Given the description of an element on the screen output the (x, y) to click on. 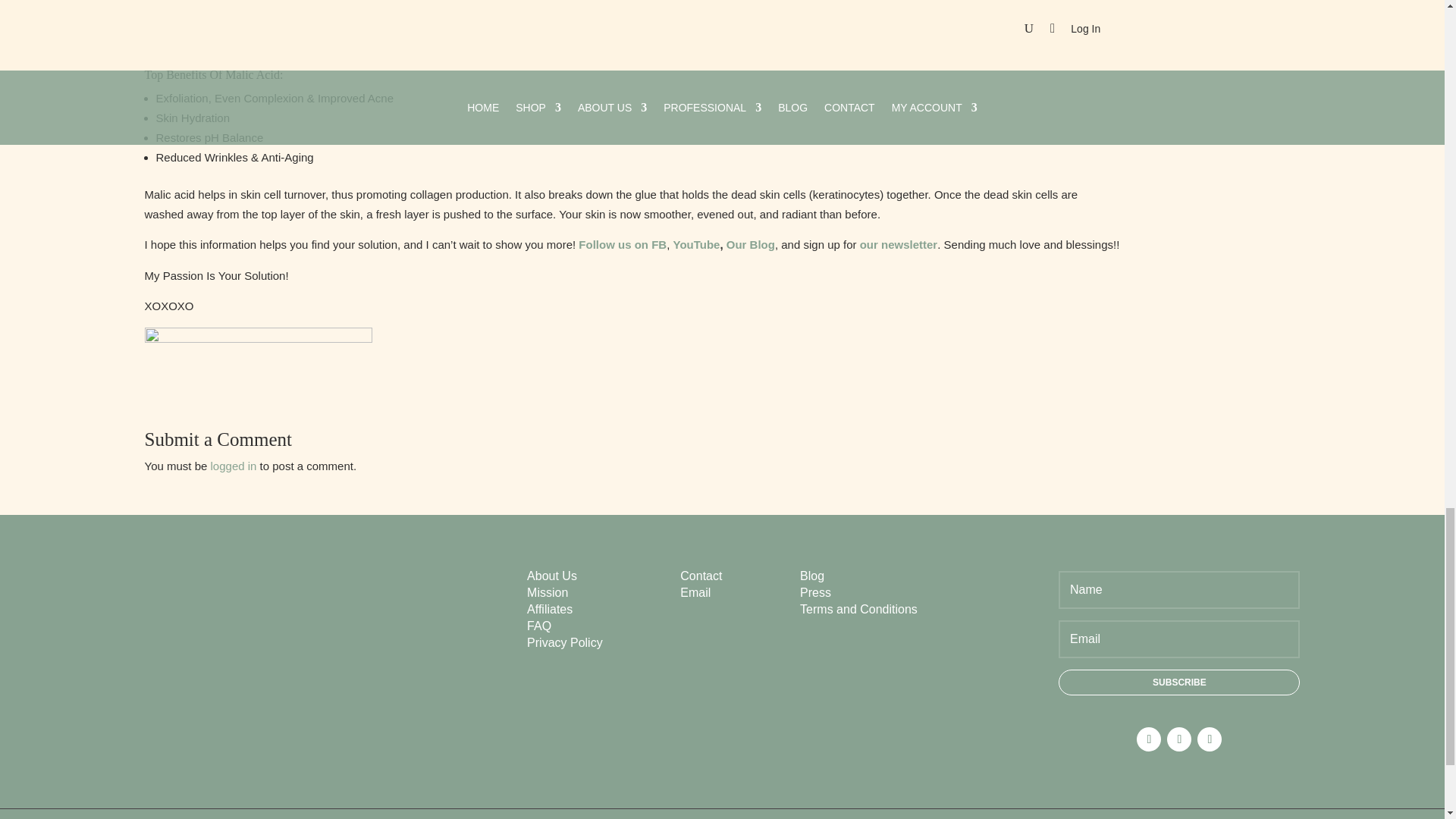
Follow on Facebook (1148, 739)
Follow on Youtube (1208, 739)
Follow on Instagram (1179, 739)
Sunshine Botanicals Logo (264, 585)
